Given the description of an element on the screen output the (x, y) to click on. 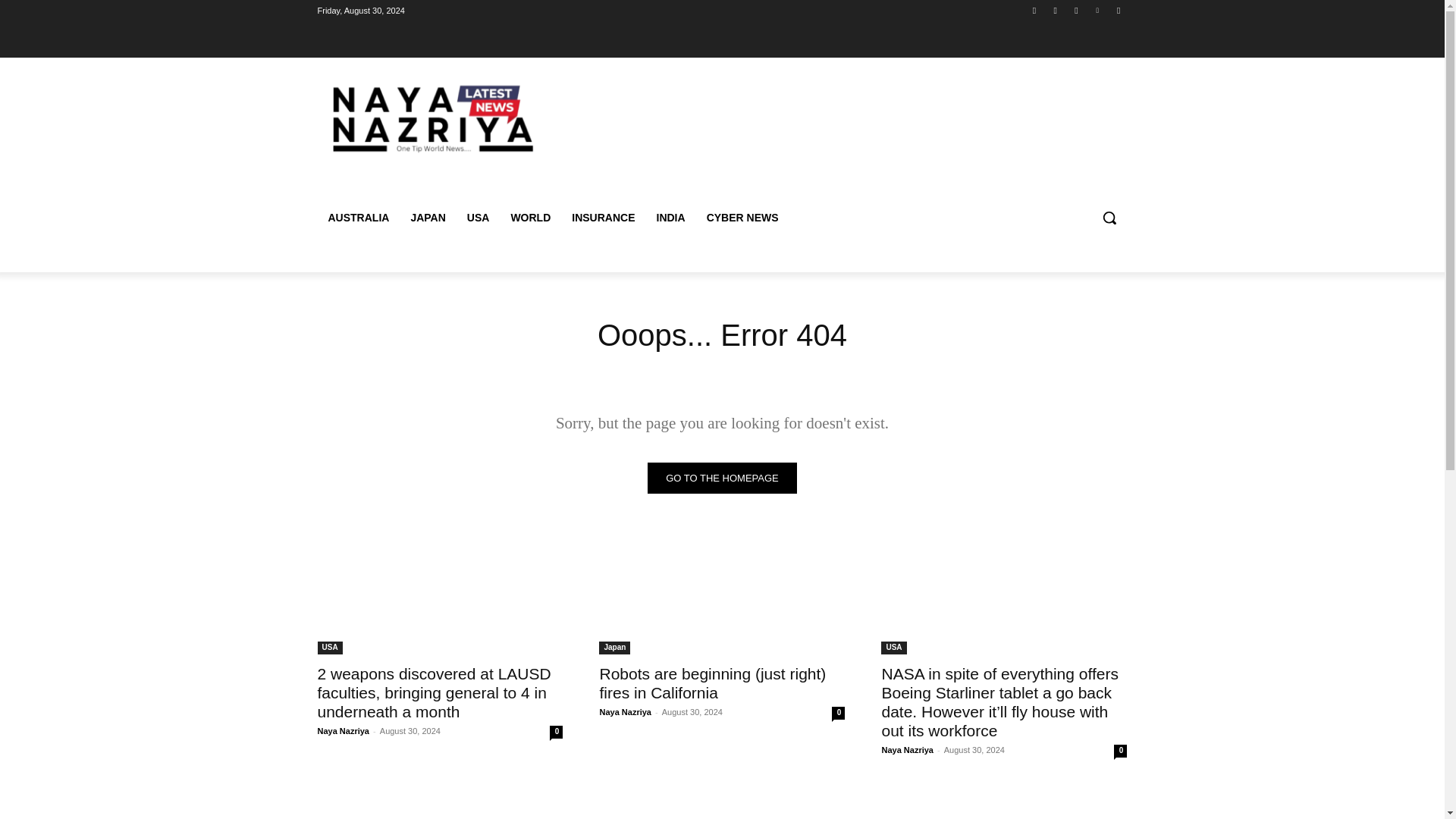
CYBER NEWS (742, 217)
Youtube (1117, 9)
Facebook (1034, 9)
USA (329, 647)
Twitter (1075, 9)
Naya Nazriya (906, 749)
Vimeo (1097, 9)
USA (892, 647)
INDIA (670, 217)
